Given the description of an element on the screen output the (x, y) to click on. 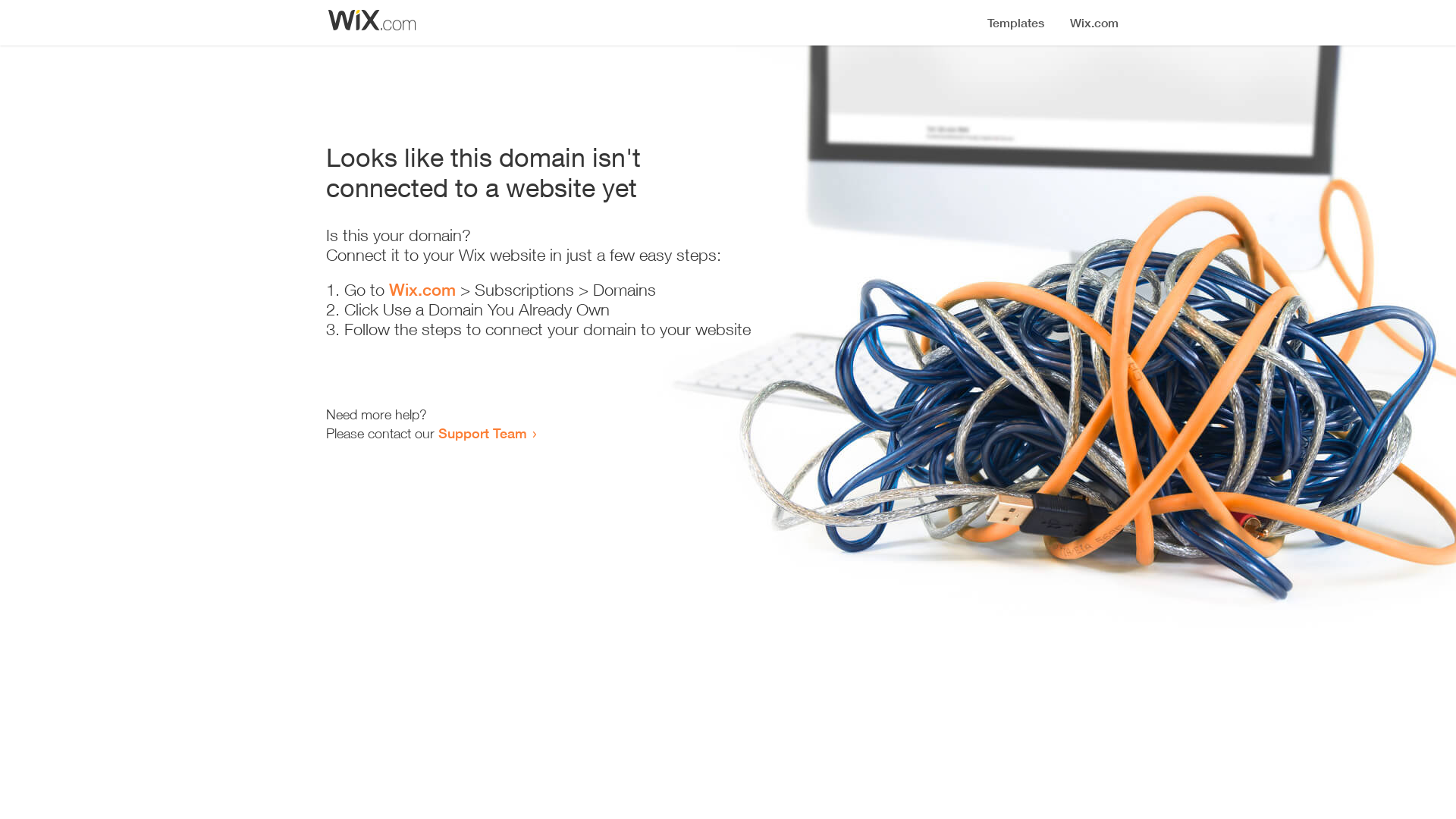
Support Team Element type: text (482, 432)
Wix.com Element type: text (422, 289)
